Given the description of an element on the screen output the (x, y) to click on. 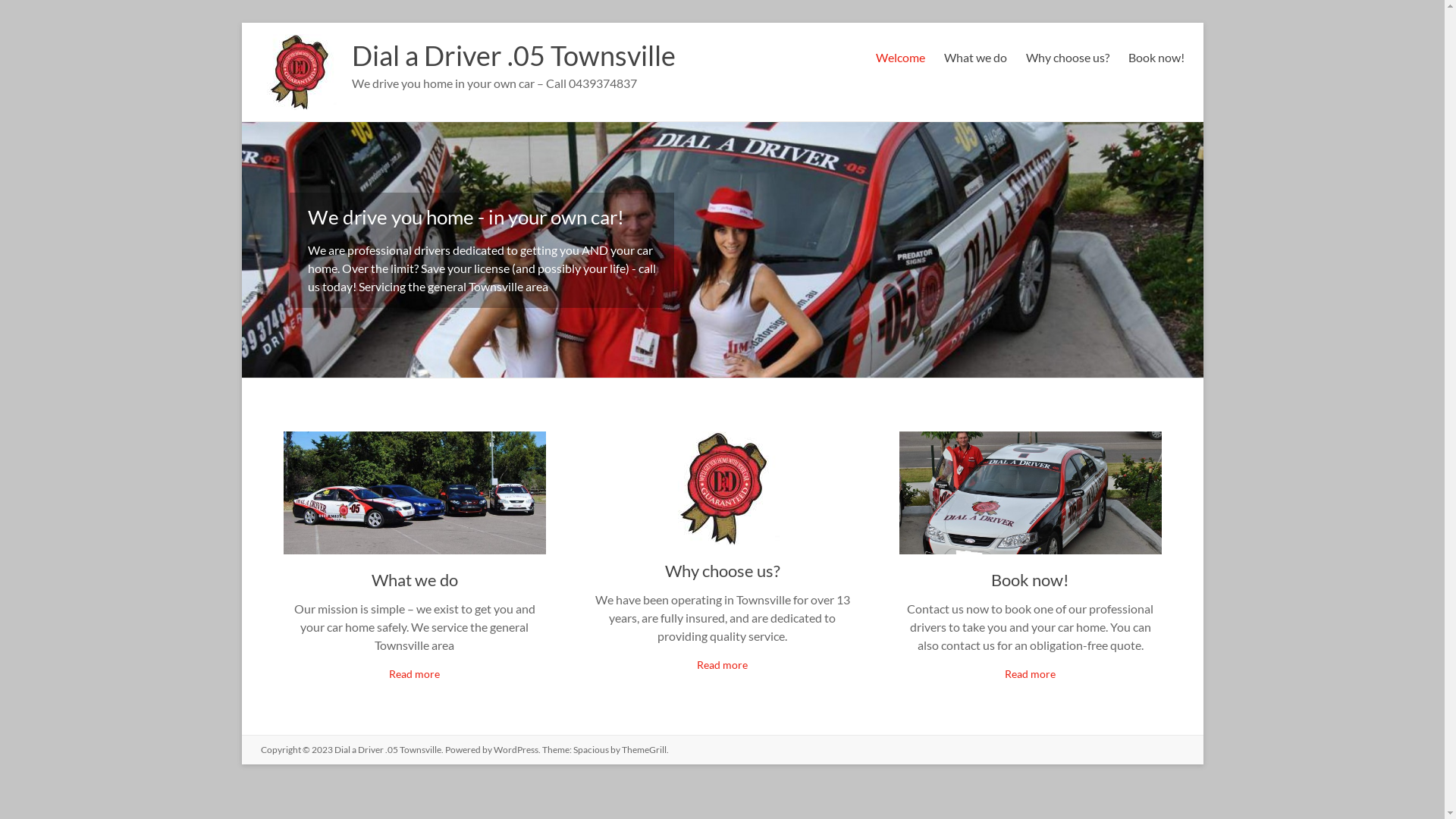
Read more Element type: text (1029, 673)
Dial a Driver .05 Townsville Element type: hover (298, 41)
WordPress Element type: text (514, 749)
Dial a Driver .05 Townsville Element type: text (513, 55)
Book now! Element type: text (1030, 579)
Read more Element type: text (414, 673)
What we do Element type: text (974, 54)
Book now! Element type: text (1156, 54)
We drive you home - in your own car! Element type: text (465, 216)
ThemeGrill Element type: text (643, 749)
Why choose us? Element type: text (1066, 54)
Welcome Element type: text (899, 54)
What we do Element type: text (414, 579)
Dial a Driver .05 Townsville Element type: text (386, 749)
Why choose us? Element type: text (721, 570)
Read more Element type: text (721, 664)
